Given the description of an element on the screen output the (x, y) to click on. 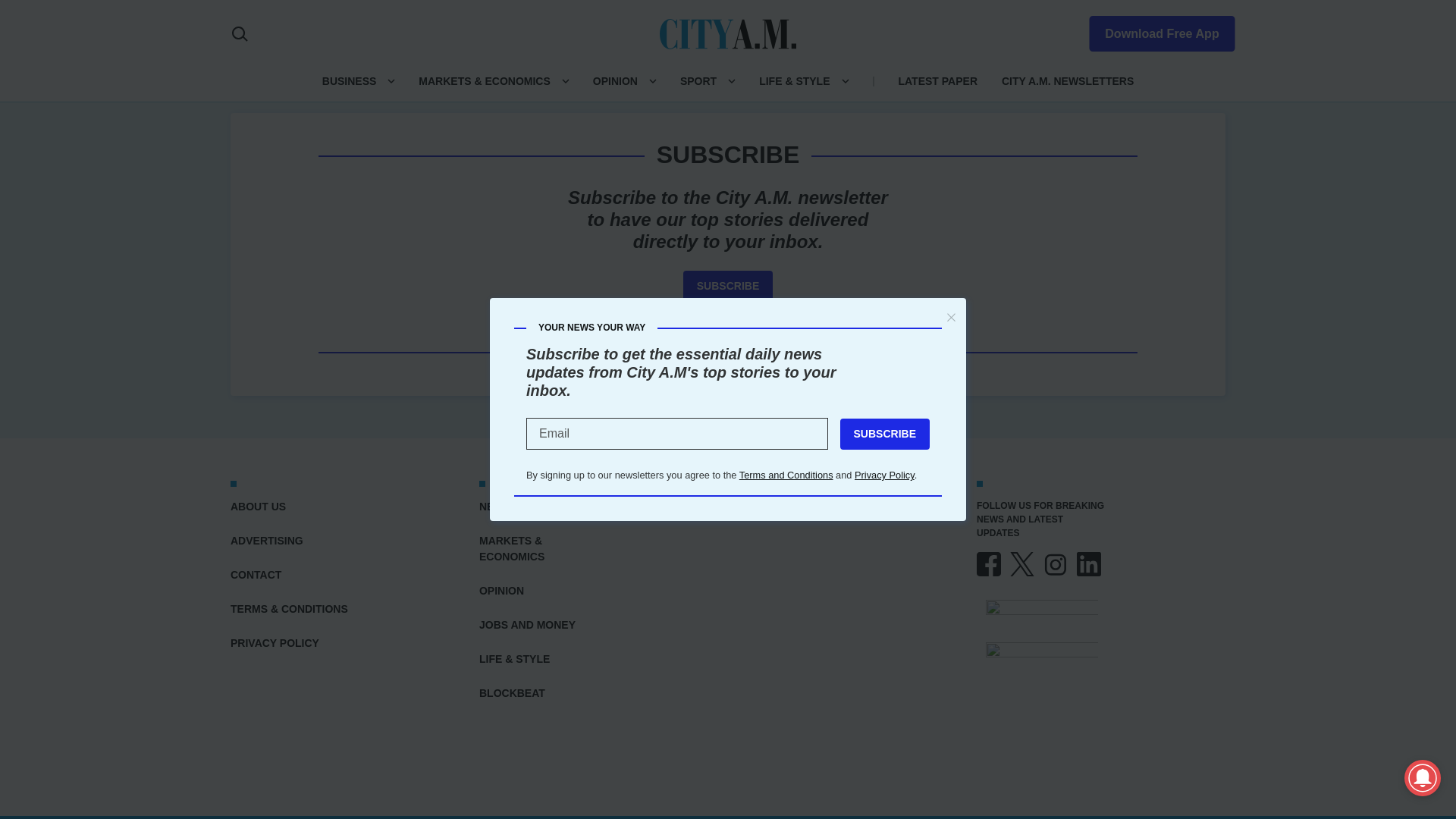
LINKEDIN (1088, 564)
FACEBOOK (988, 564)
X (1021, 564)
INSTAGRAM (1055, 564)
